Given the description of an element on the screen output the (x, y) to click on. 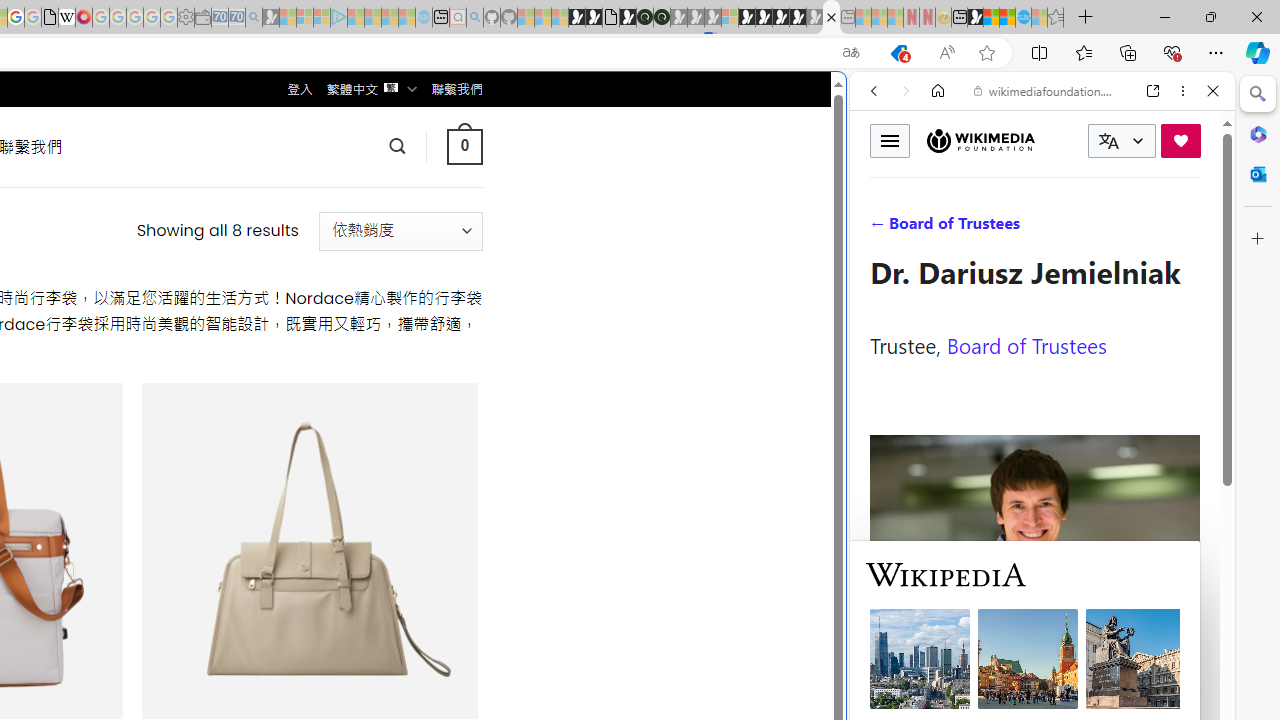
Show translate options (850, 53)
Wikimedia Foundation (980, 140)
Search or enter web address (343, 191)
MediaWiki (83, 17)
